Given the description of an element on the screen output the (x, y) to click on. 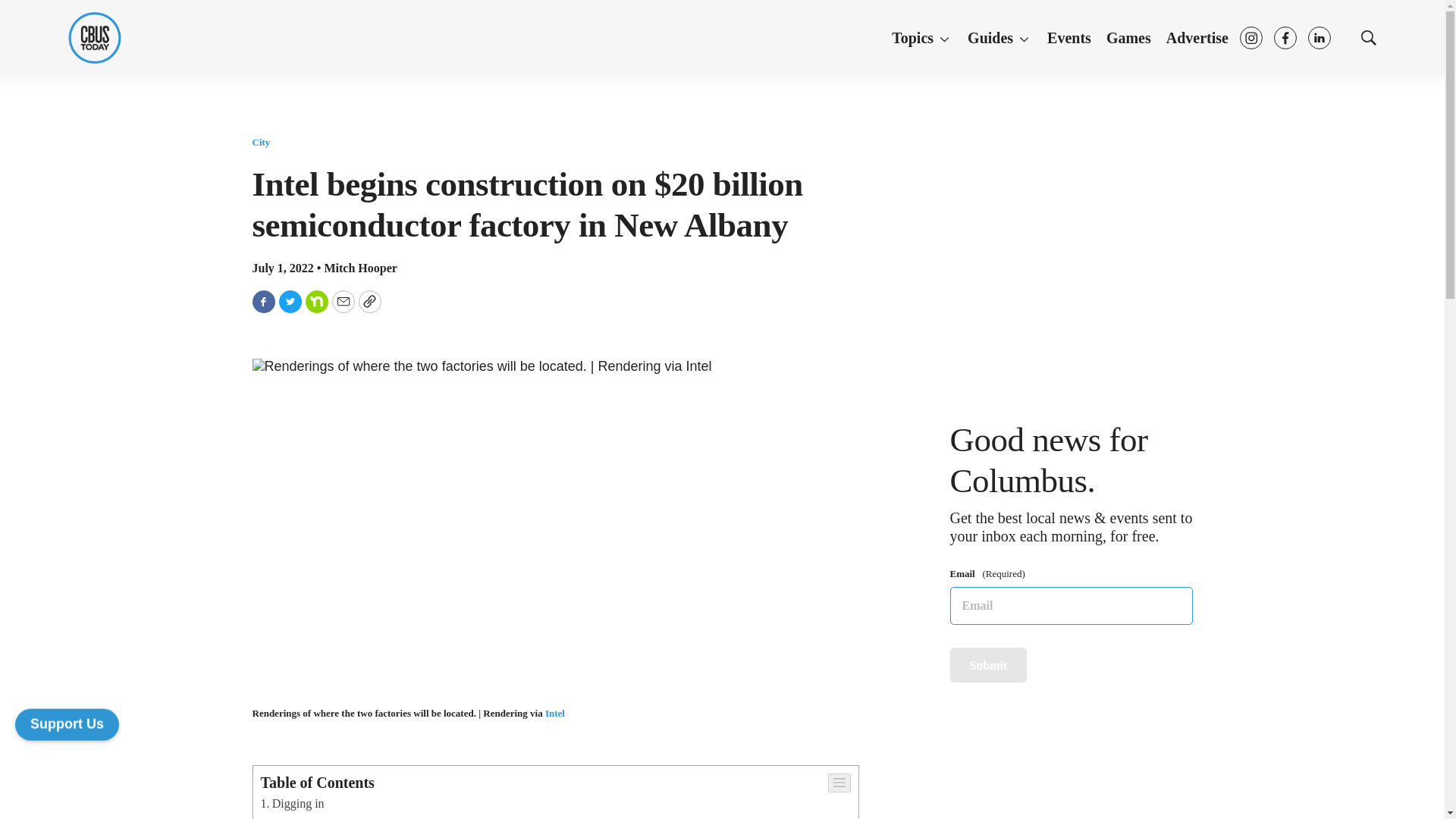
Add (66, 724)
Guides (1000, 39)
